Given the description of an element on the screen output the (x, y) to click on. 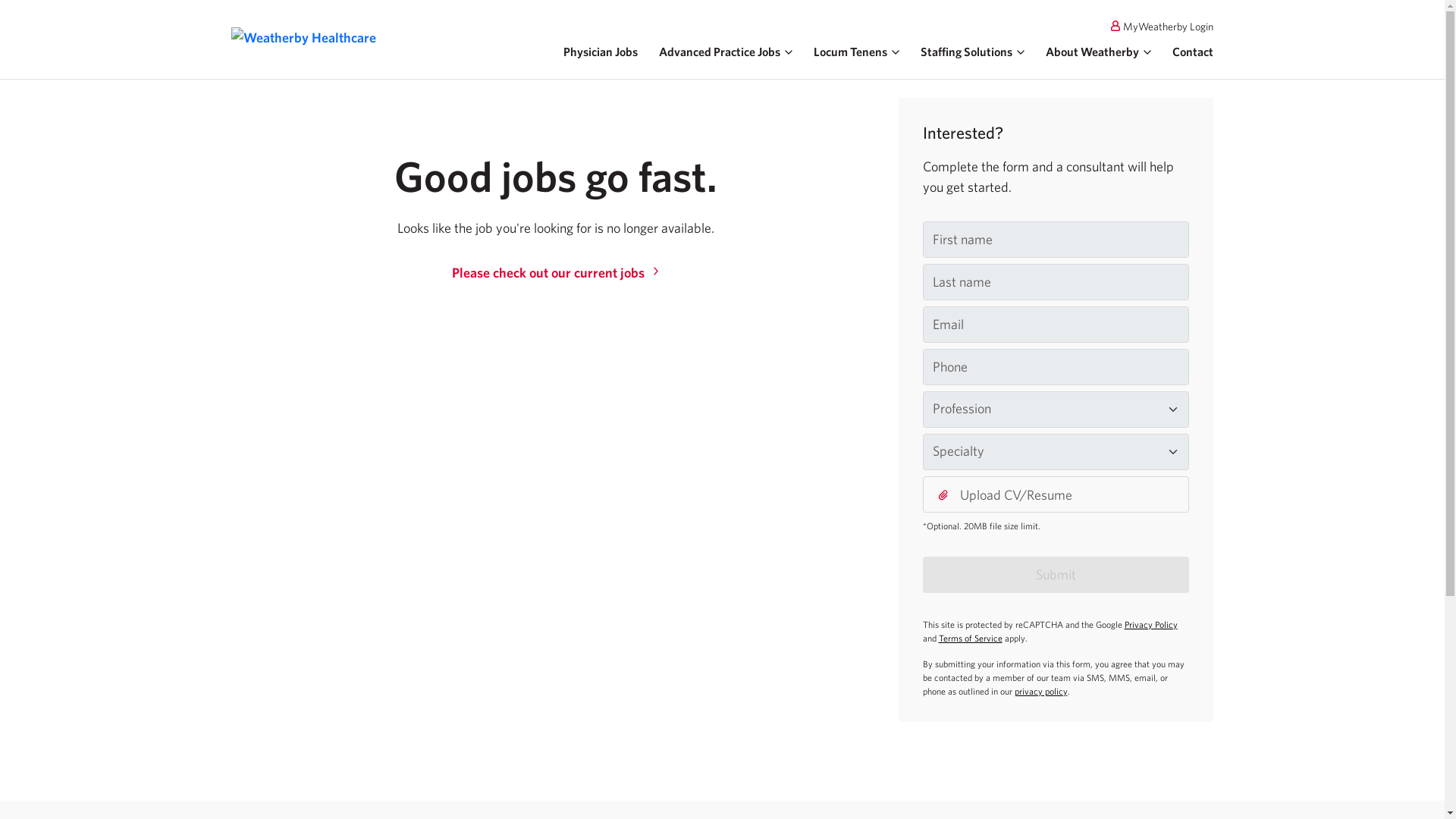
Contact (1192, 51)
MyWeatherby Login (804, 26)
Physician Jobs (600, 51)
